Given the description of an element on the screen output the (x, y) to click on. 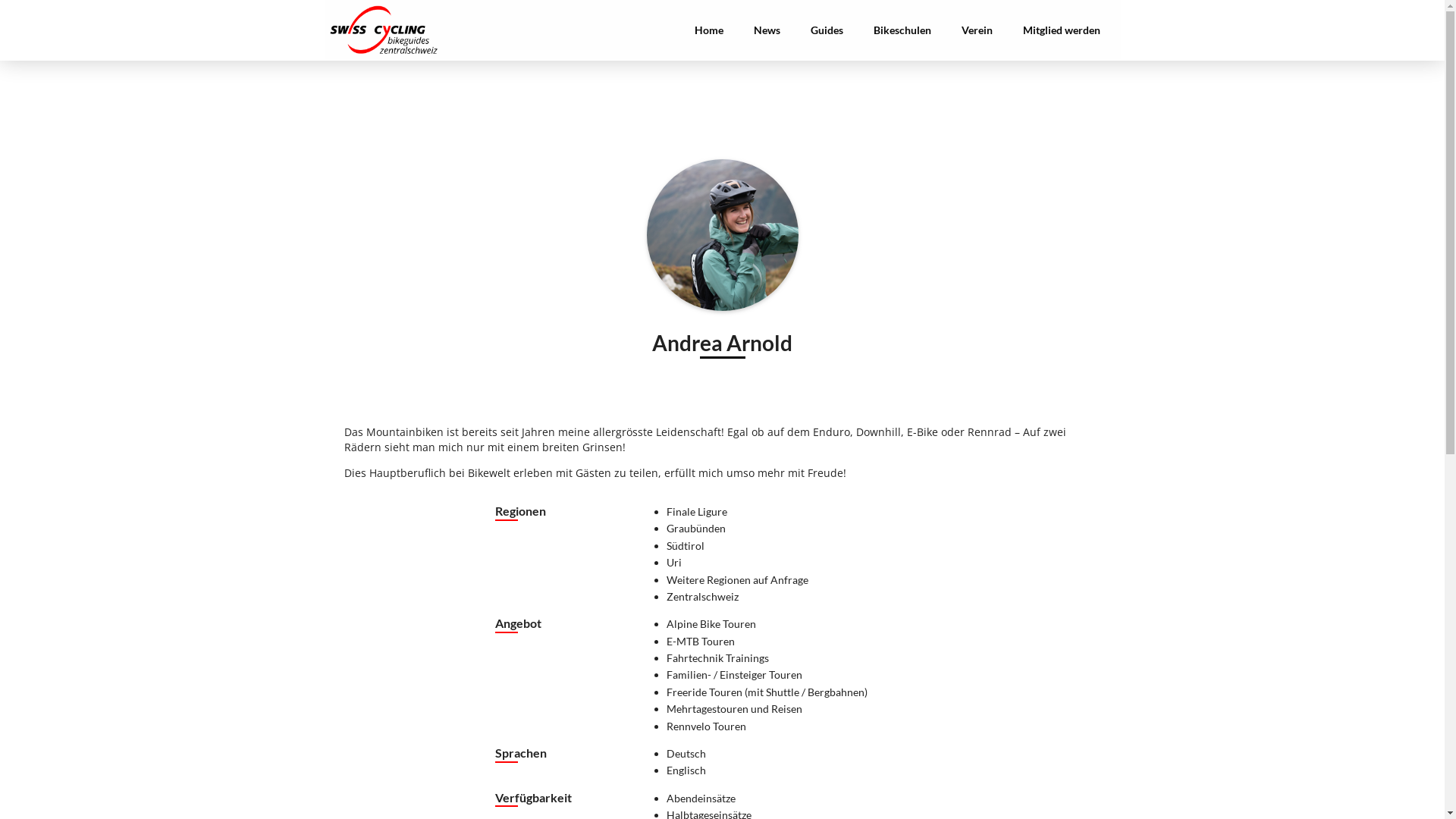
Home Element type: text (708, 30)
Mitglied werden Element type: text (1060, 30)
Bikeschulen Element type: text (902, 30)
Guides Element type: text (825, 30)
News Element type: text (766, 30)
Verein Element type: text (976, 30)
